Given the description of an element on the screen output the (x, y) to click on. 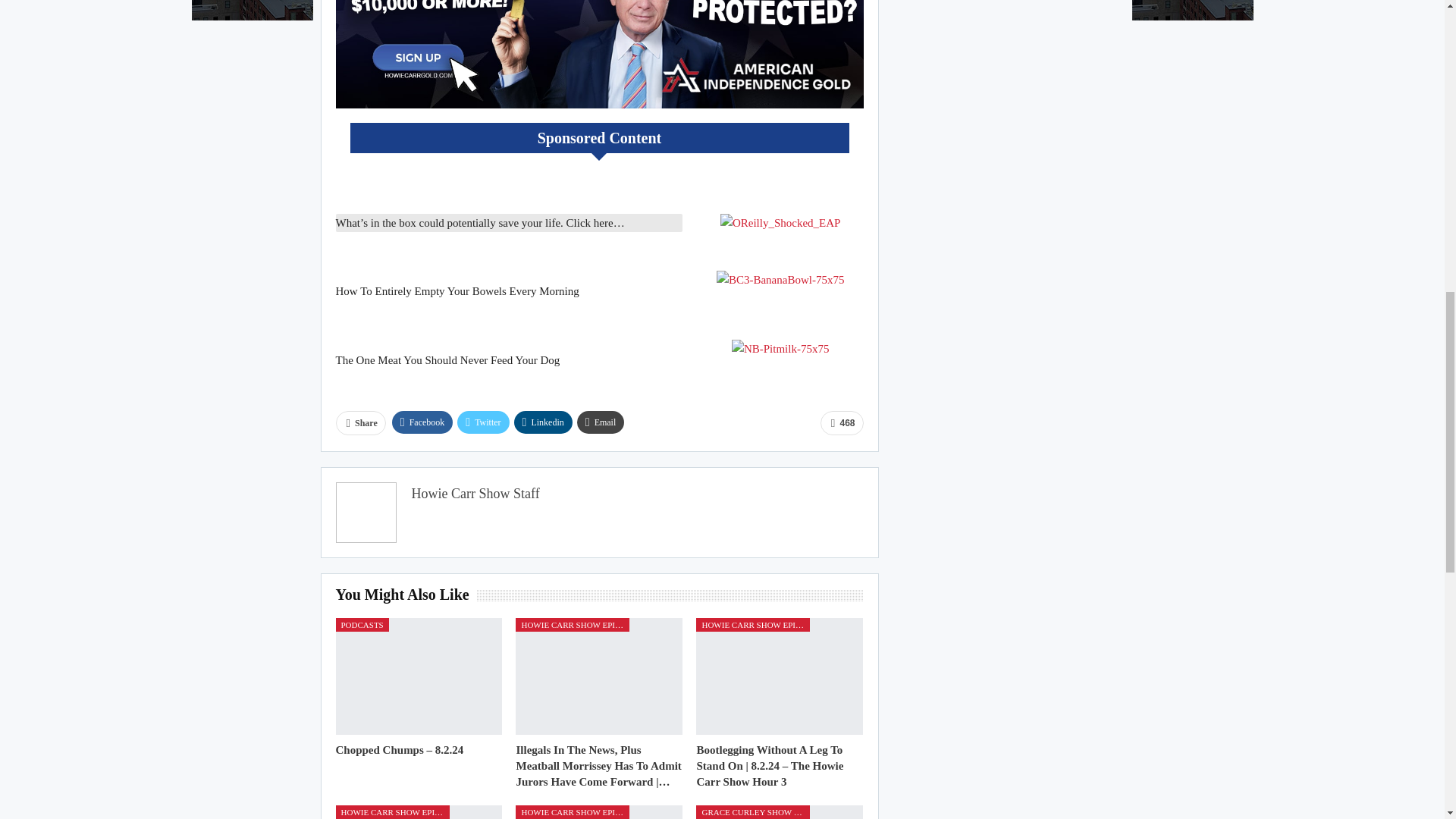
You Might Also Like (405, 594)
HOWIE CARR SHOW EPISODES (752, 624)
HOWIE CARR SHOW EPISODES (571, 624)
PODCASTS (361, 624)
Email (600, 422)
Twitter (482, 422)
BC3-BananaBowl-75x75 (780, 280)
Linkedin (542, 422)
NB-Pitmilk-75x75 (780, 348)
Howie Carr Show Staff (474, 493)
